Given the description of an element on the screen output the (x, y) to click on. 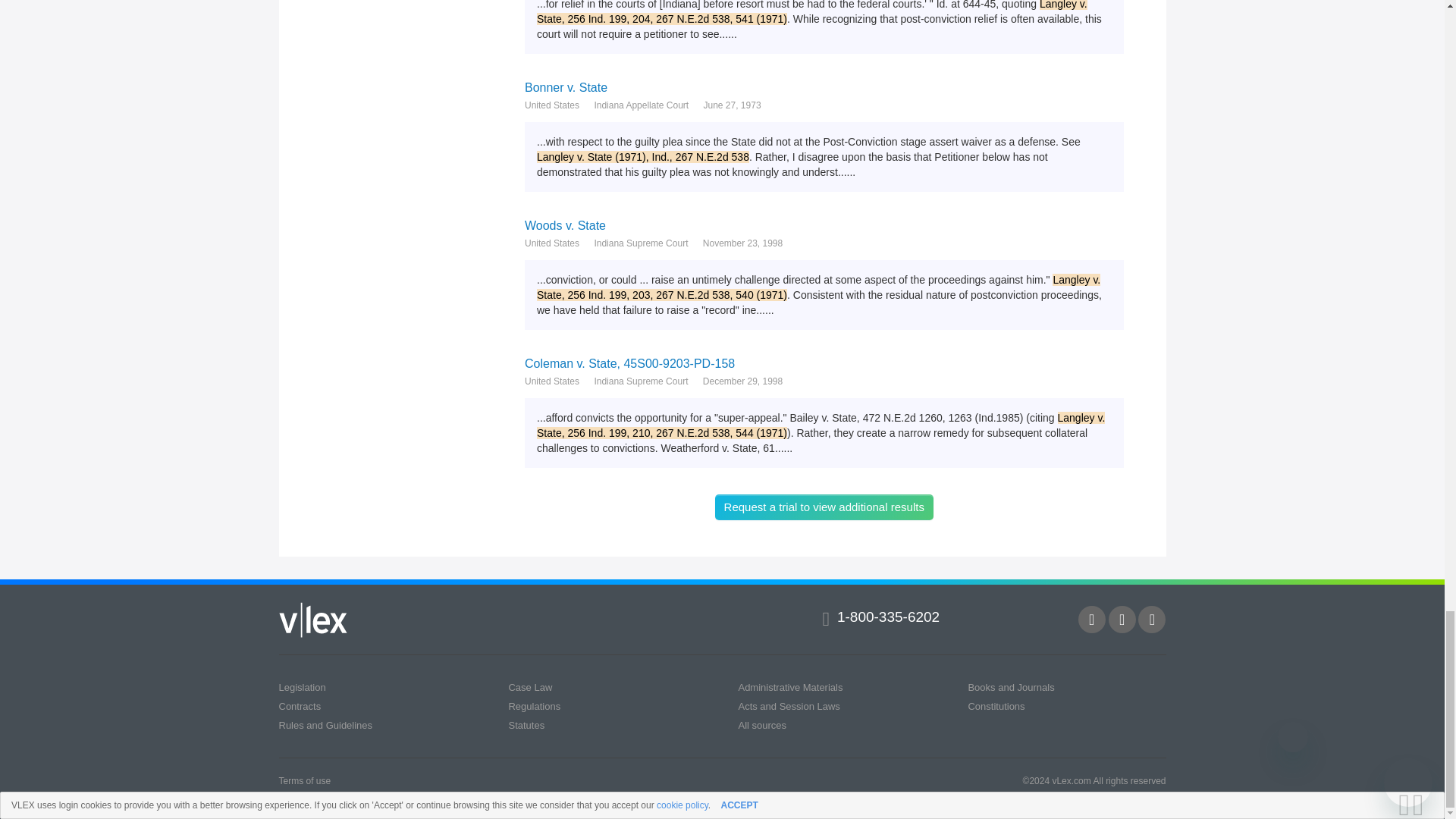
Legislation (302, 686)
December 29, 1998 (743, 381)
November 23, 1998 (743, 242)
United States (551, 381)
June 27, 1973 (732, 105)
Coleman v. State, 45S00-9203-PD-158 (824, 363)
Coleman v. State, 45S00-9203-PD-158 (824, 363)
Bonner v. State (824, 87)
Indiana Supreme Court (640, 242)
Contracts (300, 706)
United States (551, 242)
United States (551, 105)
Bonner v. State (824, 87)
Woods v. State (824, 225)
Indiana Supreme Court (640, 381)
